Given the description of an element on the screen output the (x, y) to click on. 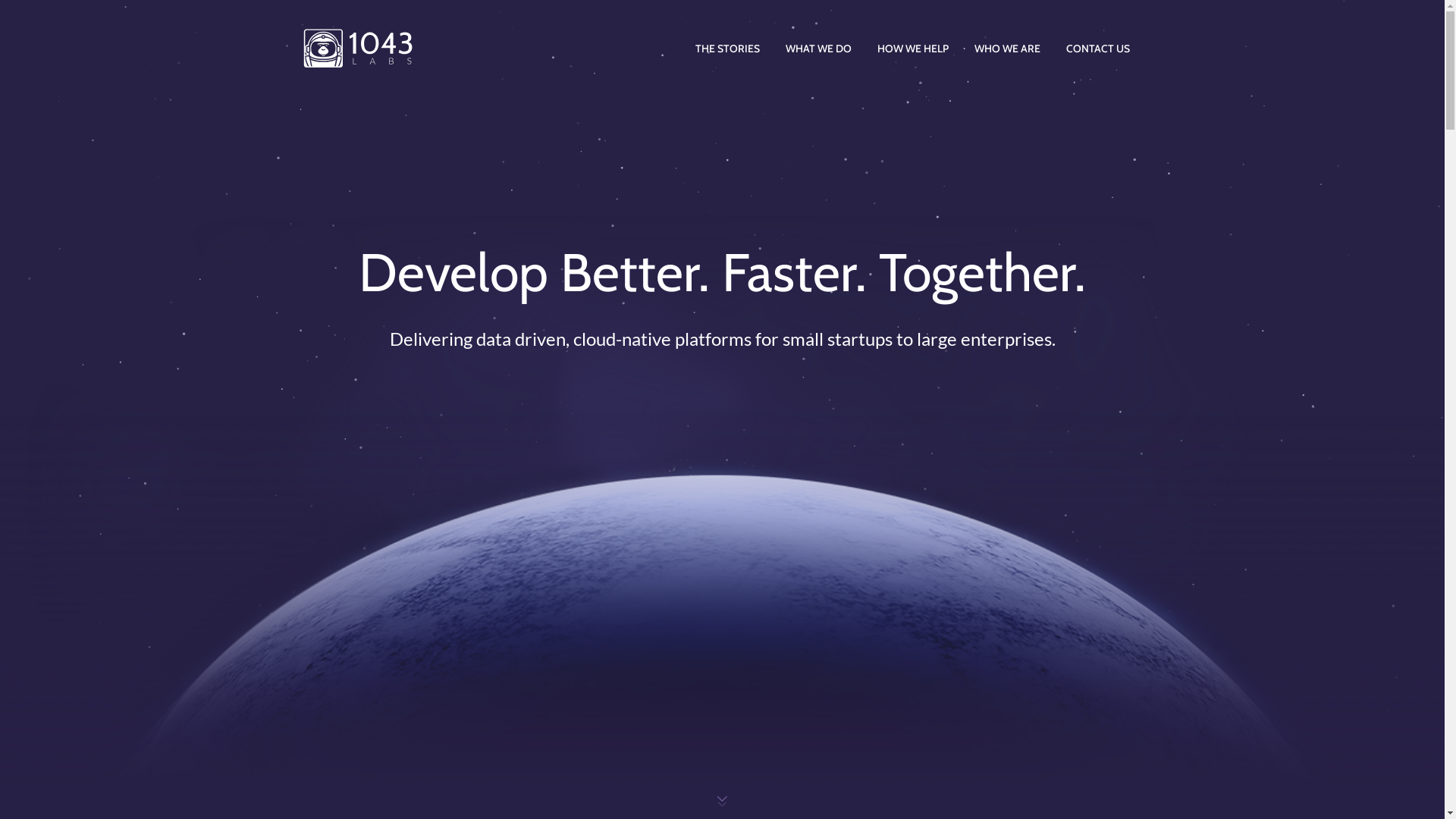
THE STORIES Element type: text (726, 48)
CONTACT US Element type: text (1098, 48)
WHAT WE DO Element type: text (818, 48)
HOW WE HELP Element type: text (912, 48)
WHO WE ARE Element type: text (1006, 48)
